Given the description of an element on the screen output the (x, y) to click on. 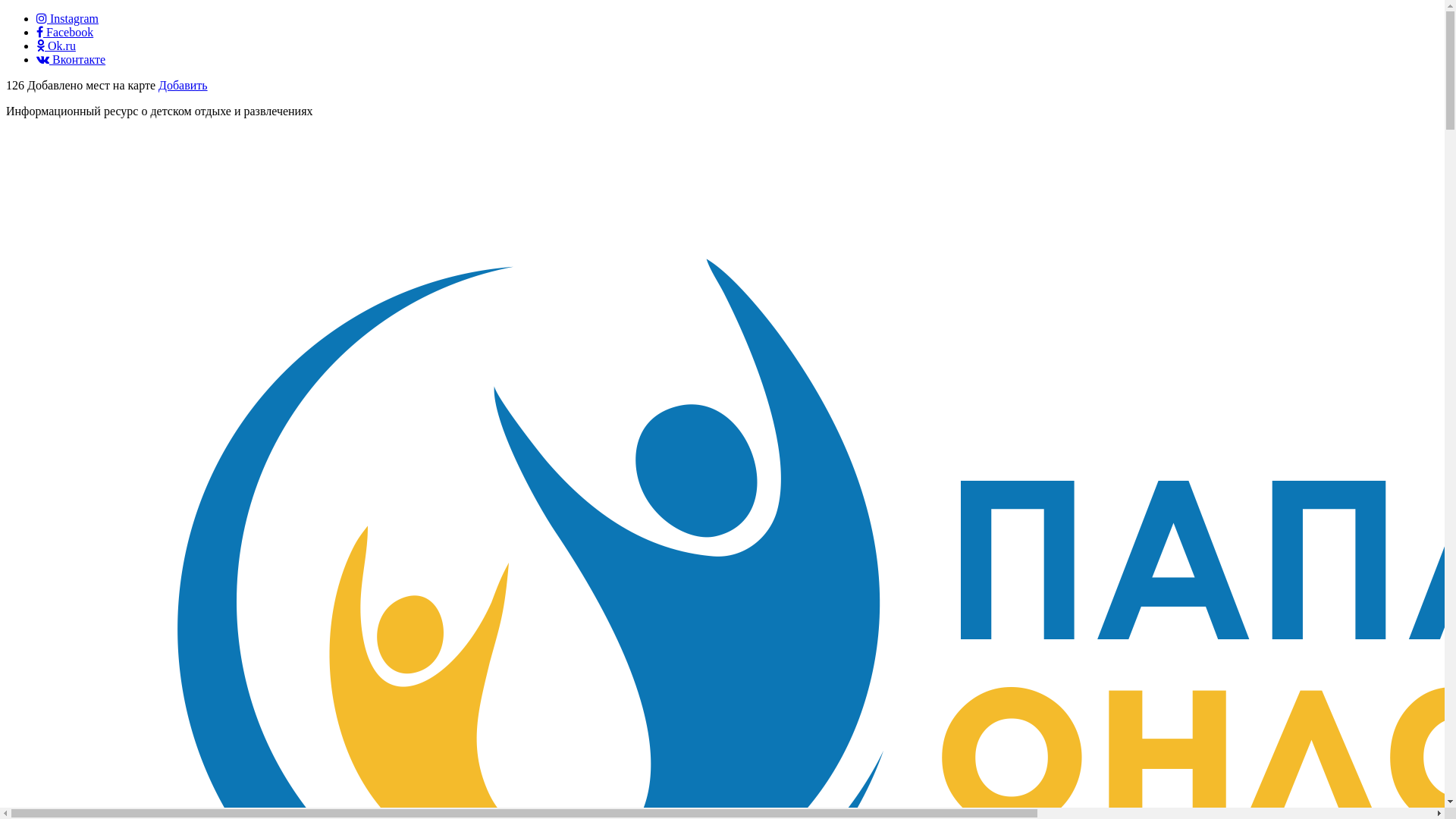
Instagram Element type: text (67, 18)
Facebook Element type: text (64, 31)
Ok.ru Element type: text (55, 45)
